Given the description of an element on the screen output the (x, y) to click on. 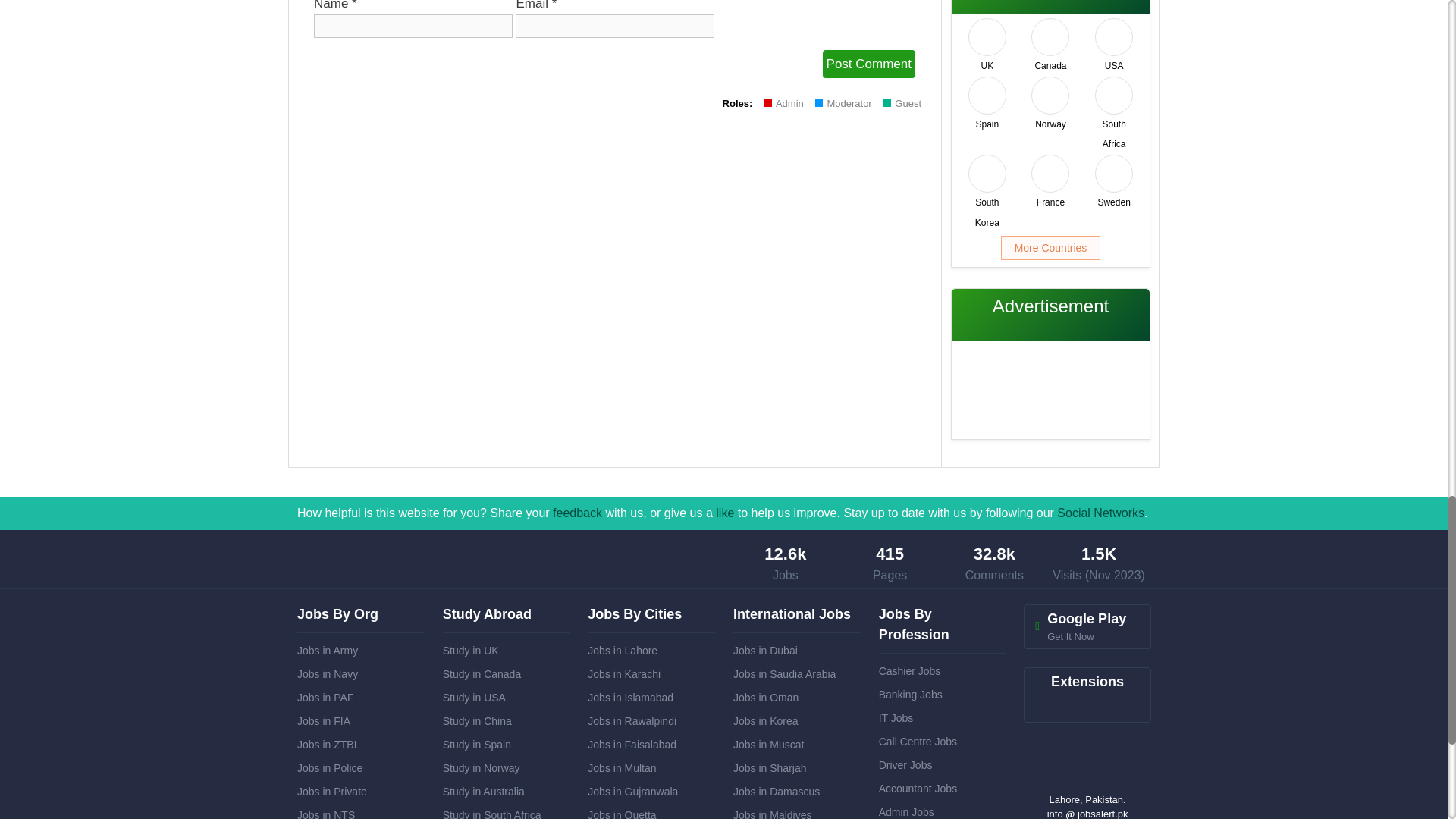
Post Comment (868, 63)
